Given the description of an element on the screen output the (x, y) to click on. 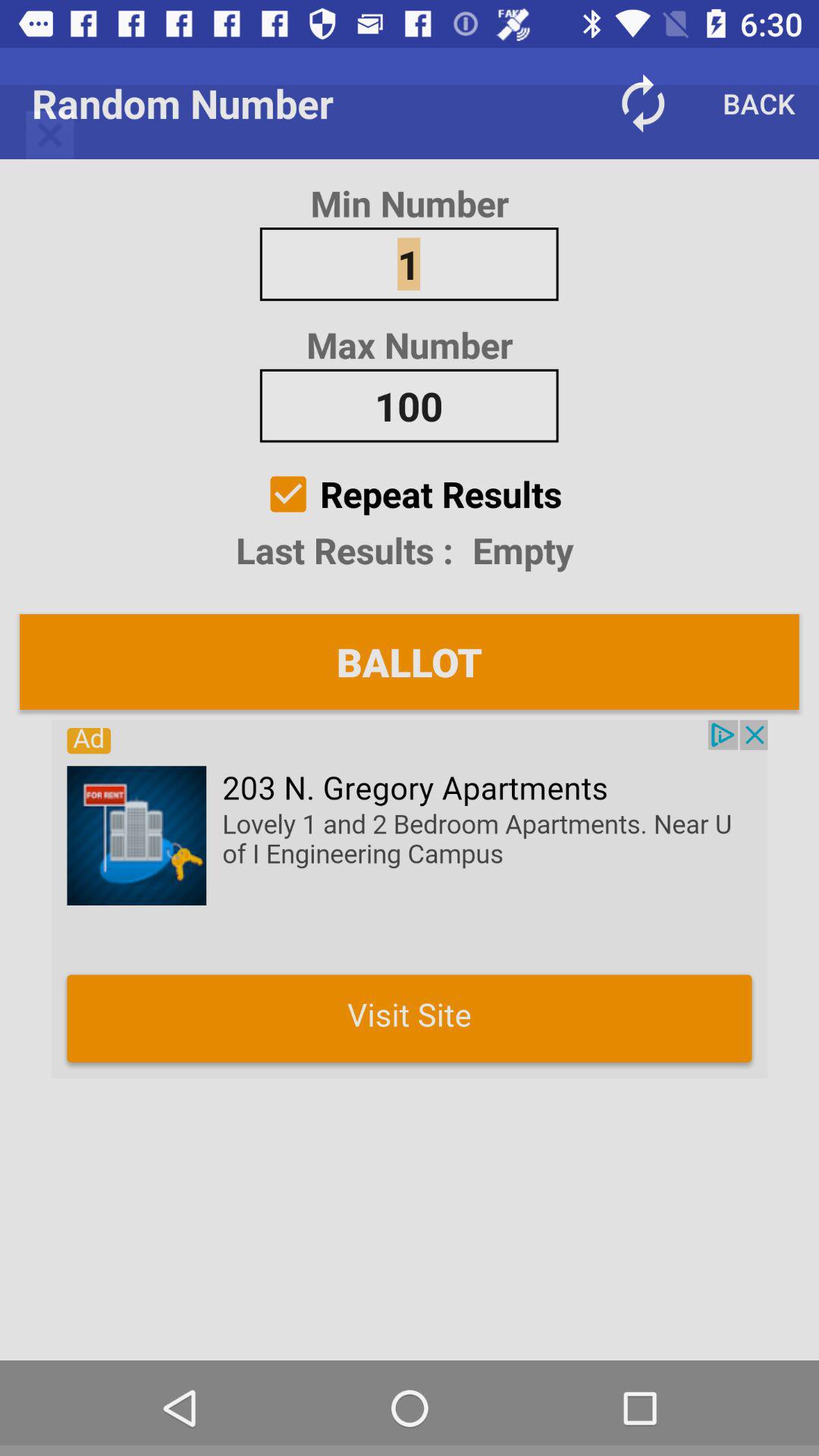
random numbers roulette random passwords and create and draw random teams (409, 899)
